Given the description of an element on the screen output the (x, y) to click on. 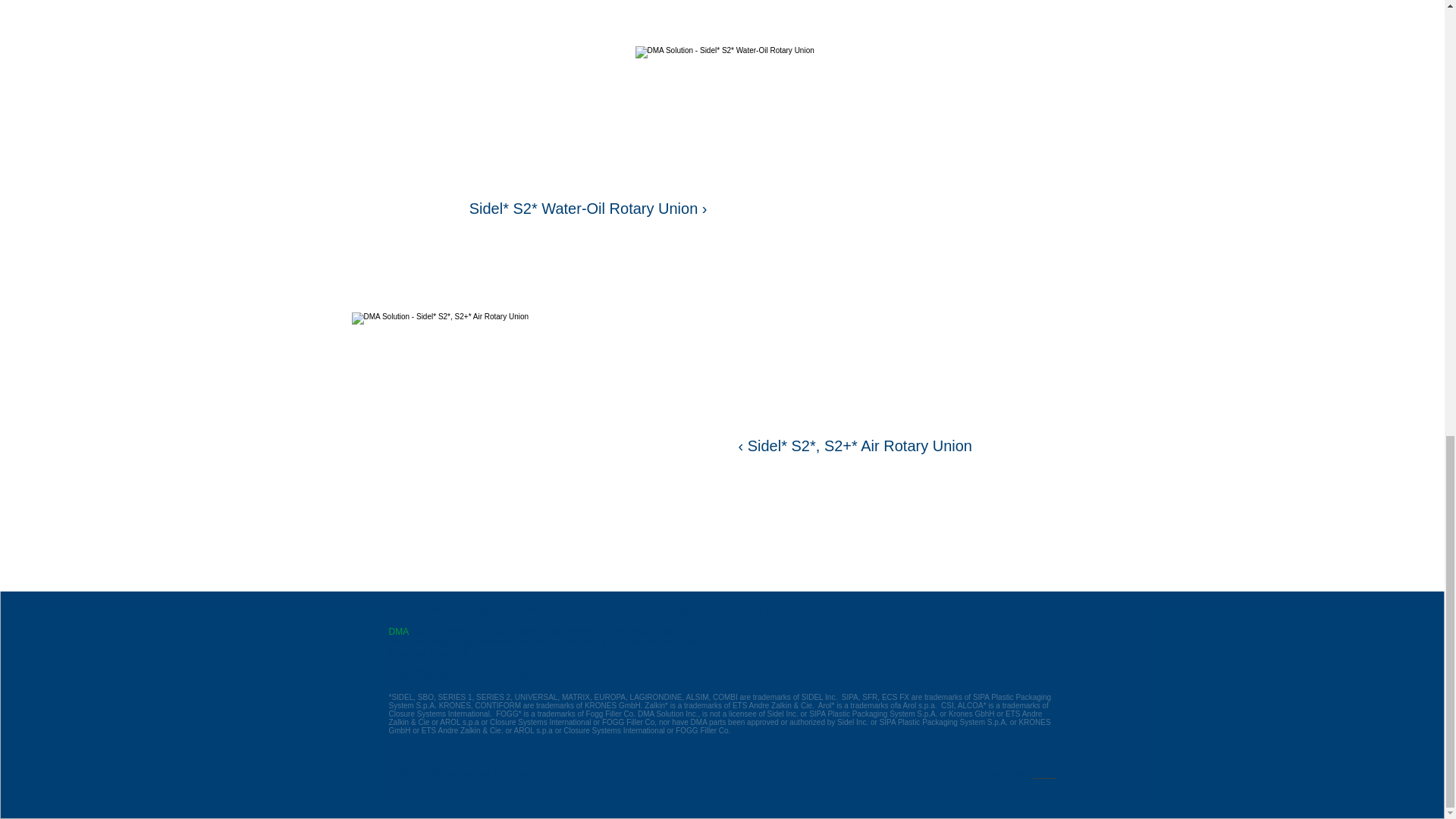
Krafix (1044, 774)
